Given the description of an element on the screen output the (x, y) to click on. 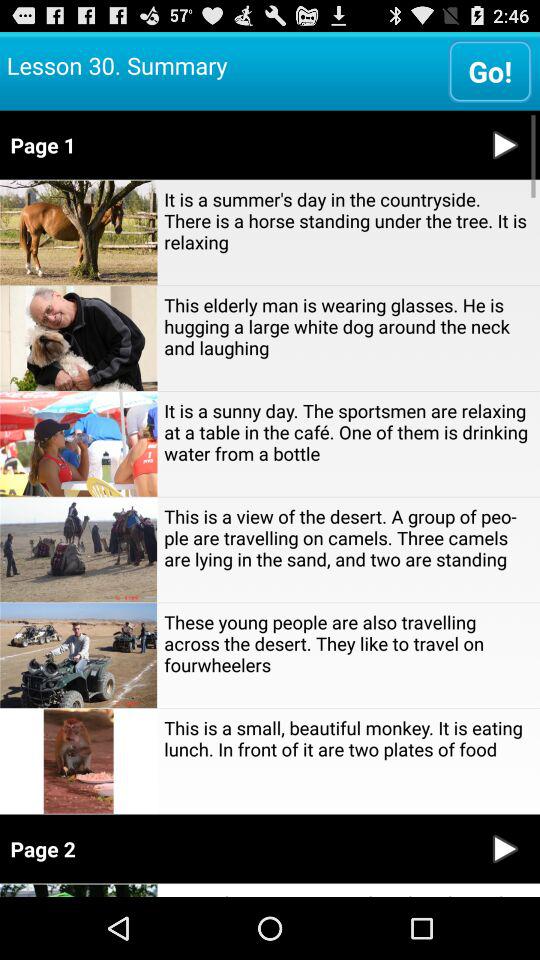
tap the item below go! item (235, 144)
